Given the description of an element on the screen output the (x, y) to click on. 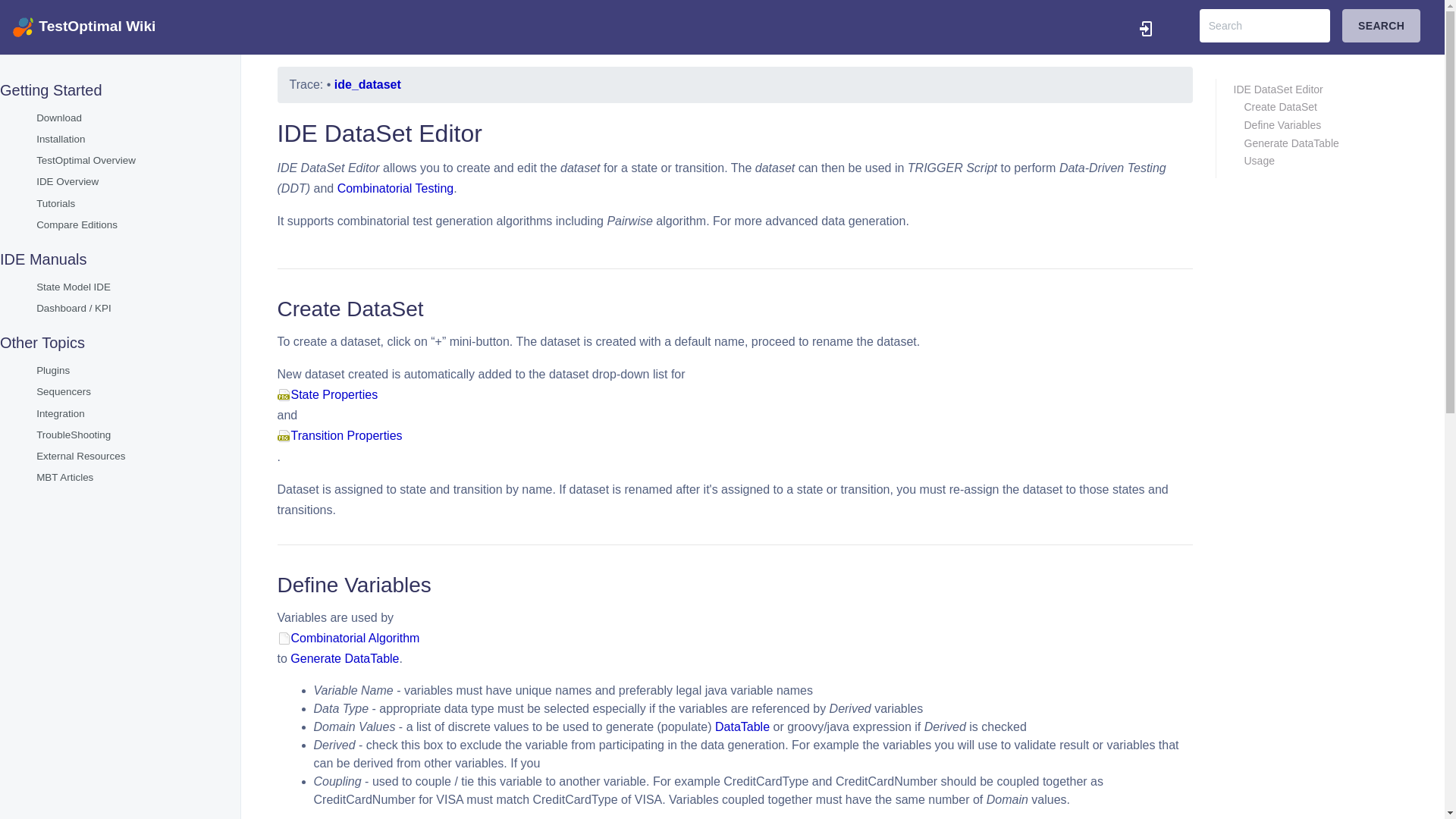
Define Variables (1329, 124)
Generate DataTable (343, 658)
Download (58, 117)
TestOptimal Wiki (83, 26)
plugins (52, 369)
Combinatorial Algorithm (735, 638)
SEARCH (1381, 25)
IDE DataSet Editor (1324, 89)
Combinatorial Testing (395, 187)
installdoc (60, 138)
